Given the description of an element on the screen output the (x, y) to click on. 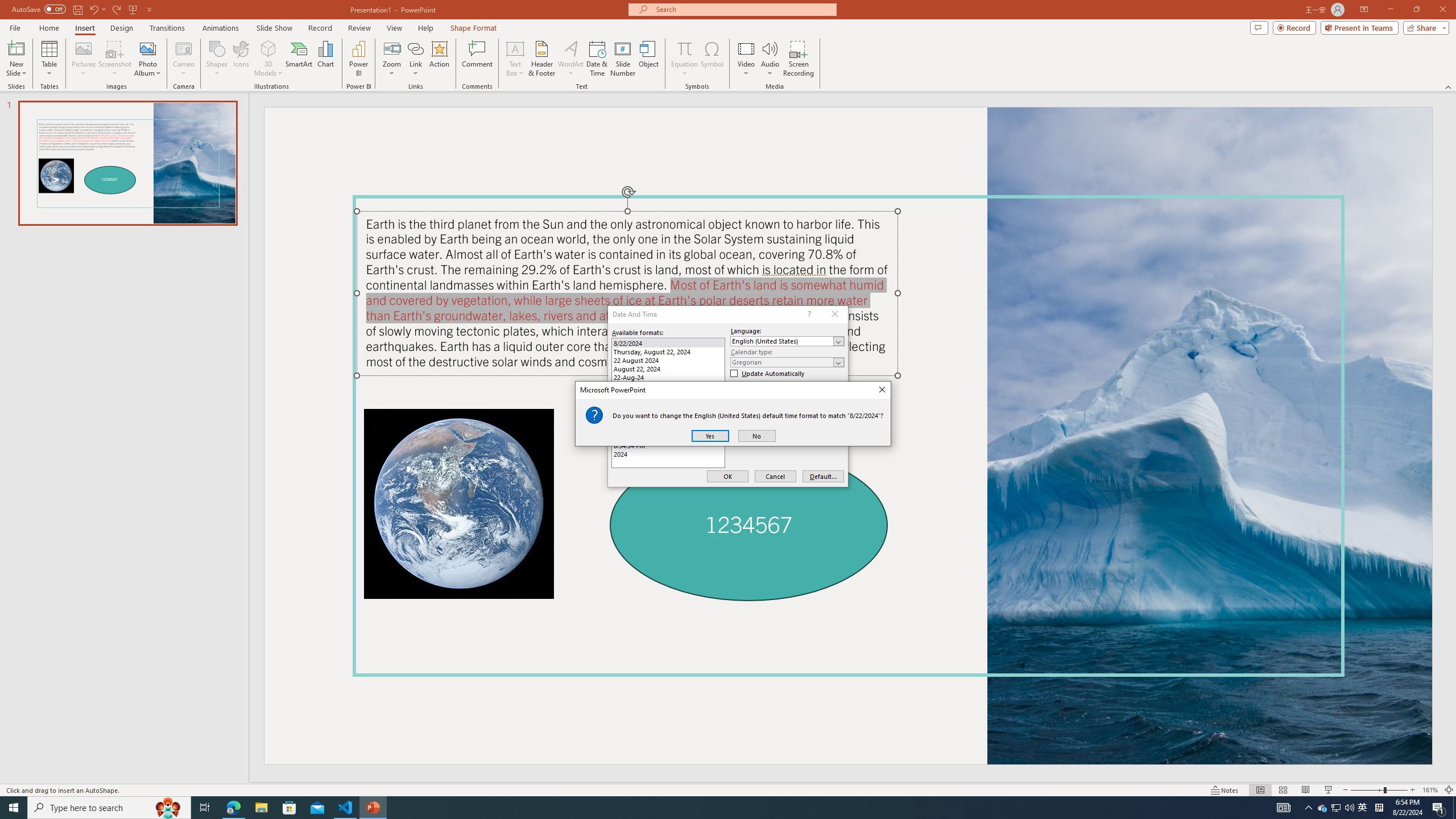
Icons (240, 58)
SmartArt... (298, 58)
Notes  (1225, 790)
Q2790: 100% (1349, 807)
Help (425, 28)
Default... (823, 476)
Class: MsoCommandBar (728, 789)
Customize Quick Access Toolbar (149, 9)
View (395, 28)
Search highlights icon opens search home window (167, 807)
Context help (807, 314)
New Photo Album... (147, 48)
Share (1423, 27)
Quick Access Toolbar (82, 9)
